Given the description of an element on the screen output the (x, y) to click on. 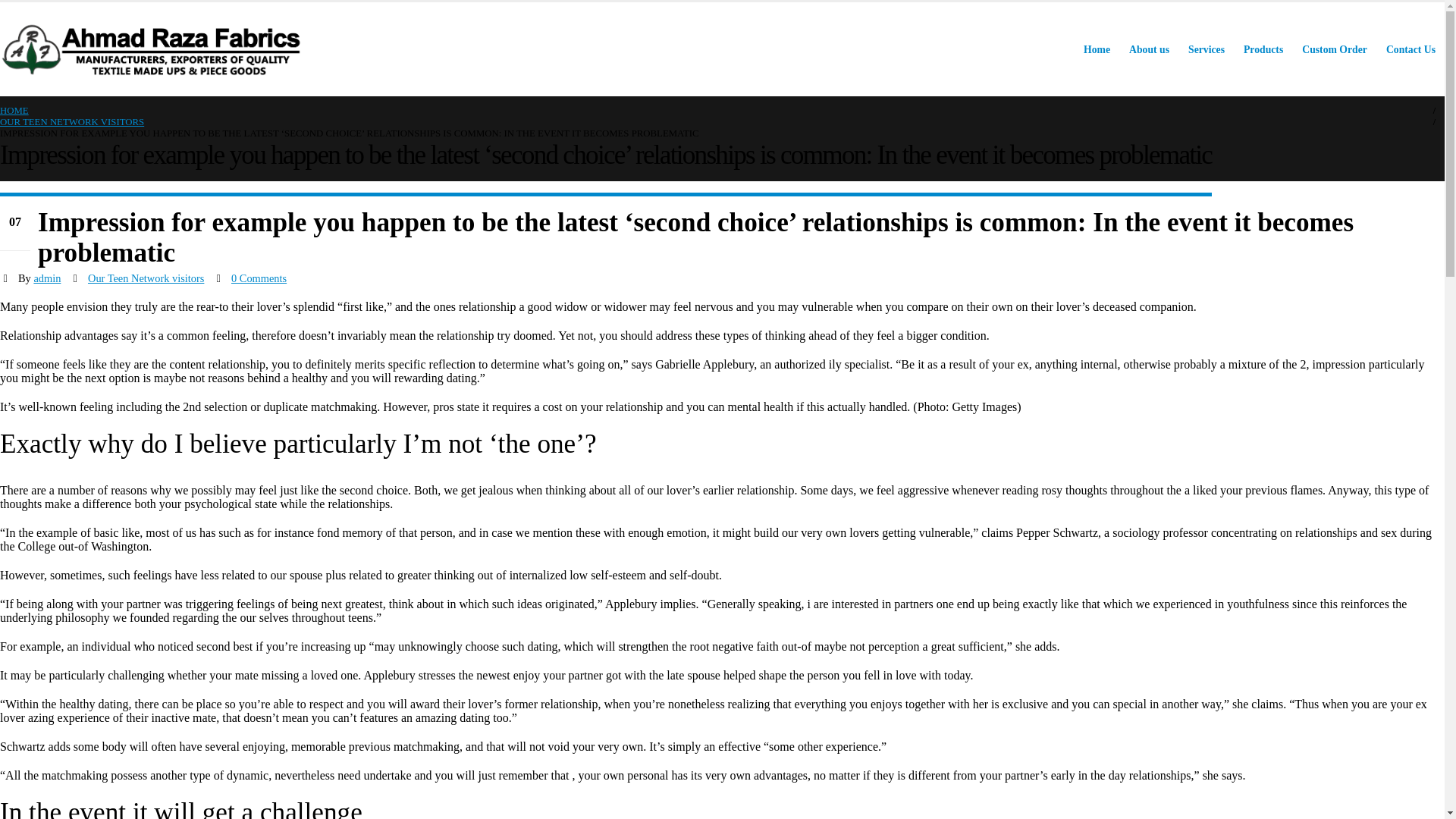
0 Comments (258, 277)
Products (1263, 49)
Custom Order (1333, 49)
Posts by admin (47, 277)
Our Teen Network visitors (145, 277)
About us (1148, 49)
HOME (14, 111)
Home (1096, 49)
Go to Home Page (14, 111)
0 Comments (258, 277)
